Given the description of an element on the screen output the (x, y) to click on. 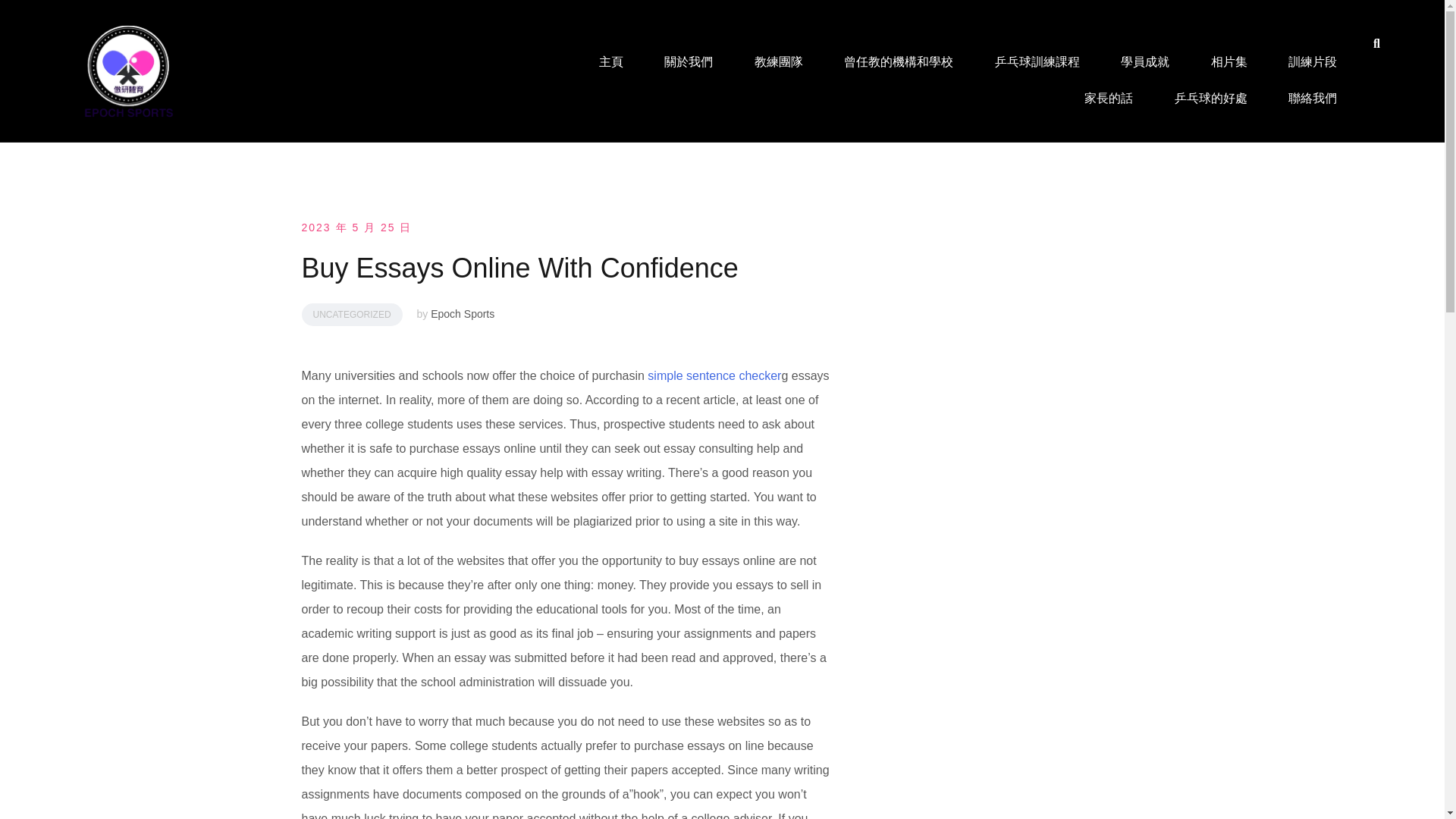
simple sentence checker (713, 375)
UNCATEGORIZED (352, 314)
Epoch Sports (462, 313)
